Given the description of an element on the screen output the (x, y) to click on. 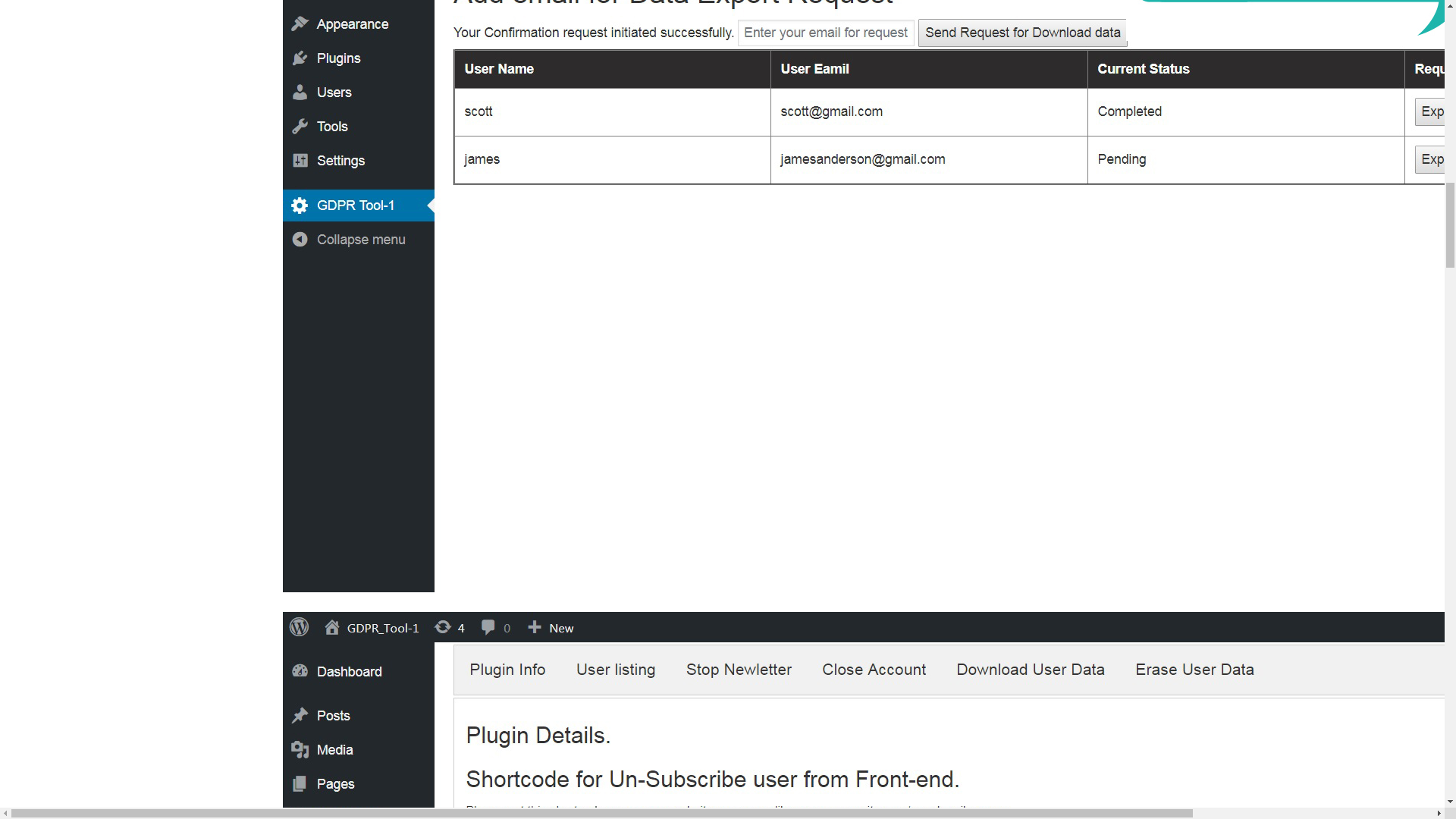
WordPress.org (1014, 14)
WordPress.org (864, 9)
